Given the description of an element on the screen output the (x, y) to click on. 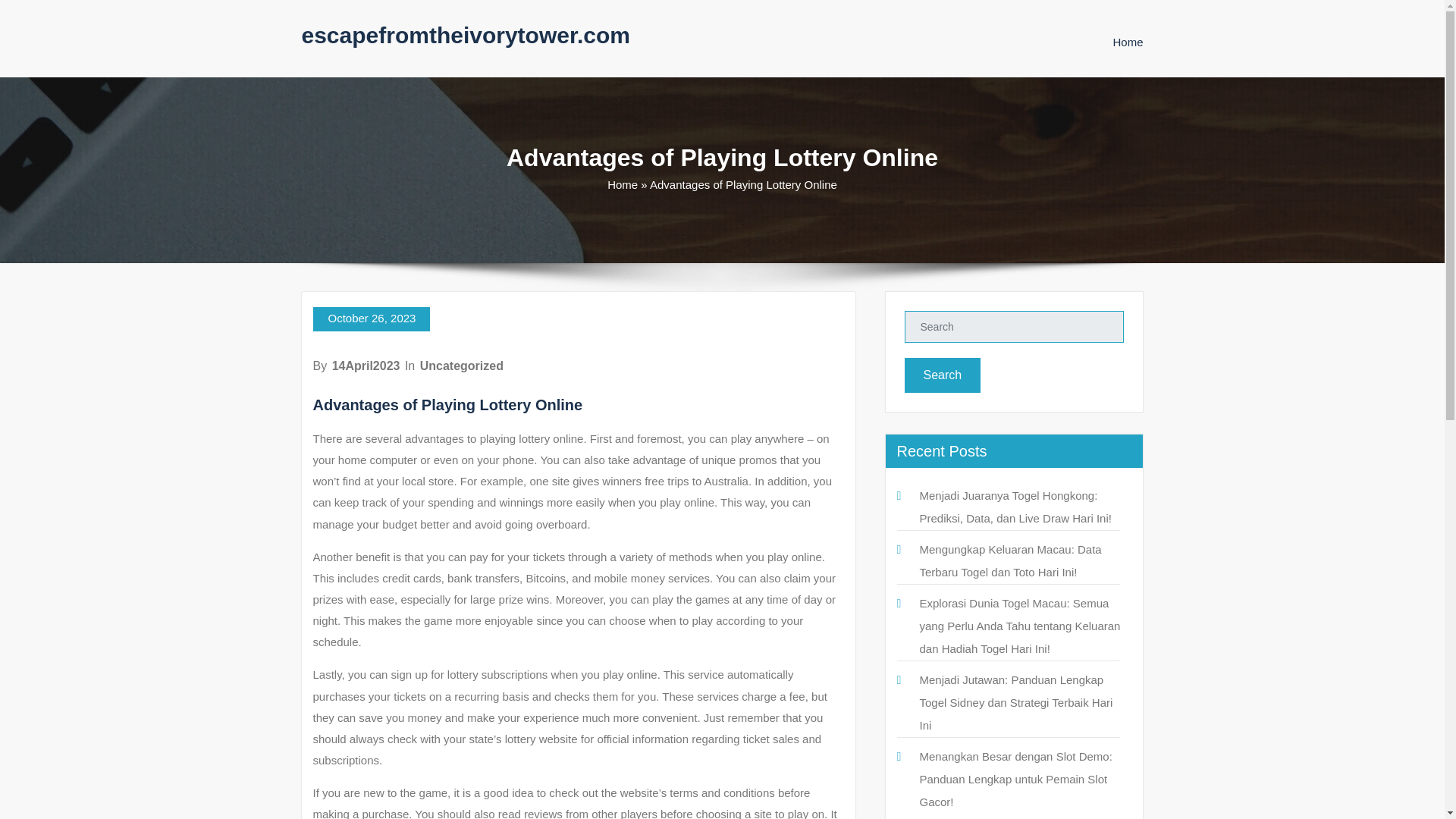
14April2023 (365, 365)
Search (941, 375)
Home (622, 184)
October 26, 2023 (371, 319)
Home (1127, 41)
Uncategorized (462, 365)
